Given the description of an element on the screen output the (x, y) to click on. 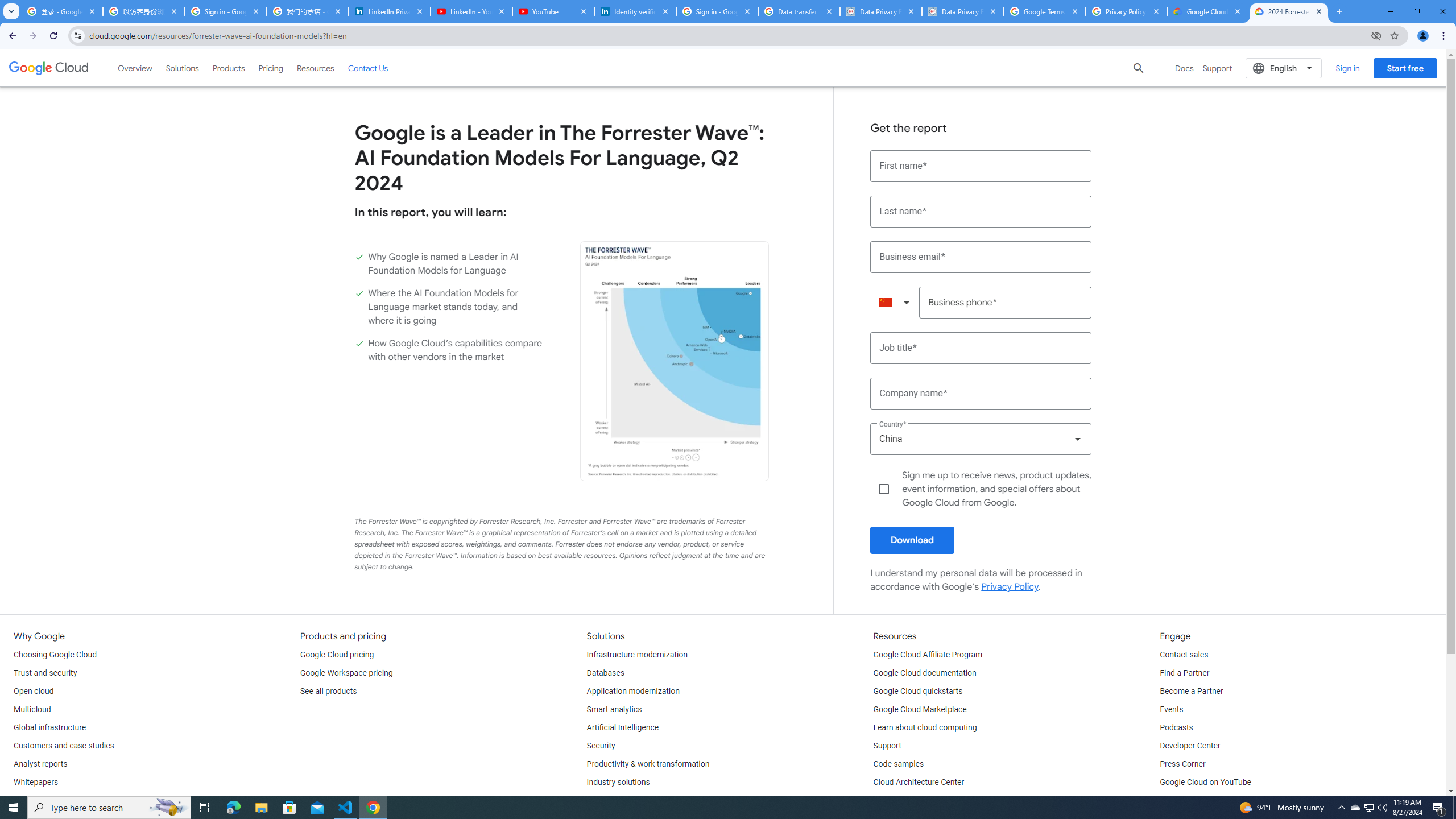
Choosing Google Cloud (55, 655)
Business email* (981, 256)
See all products (327, 691)
Global infrastructure (49, 728)
Industry solutions (617, 782)
Country China (981, 439)
YouTube (552, 11)
First name* (981, 165)
Last name* (981, 211)
Contact sales (1183, 655)
